Given the description of an element on the screen output the (x, y) to click on. 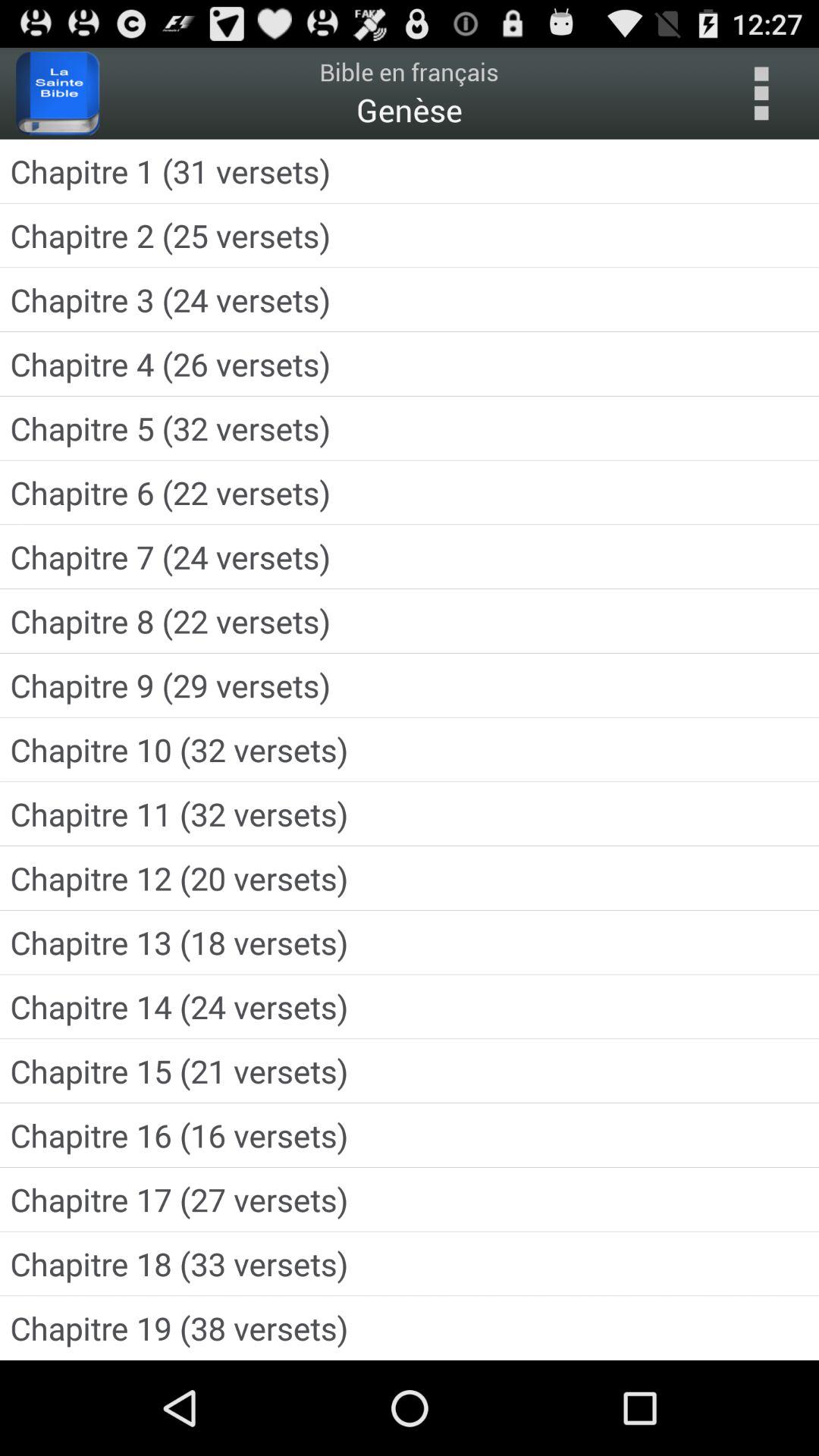
jump to chapitre 4 26 icon (409, 363)
